Given the description of an element on the screen output the (x, y) to click on. 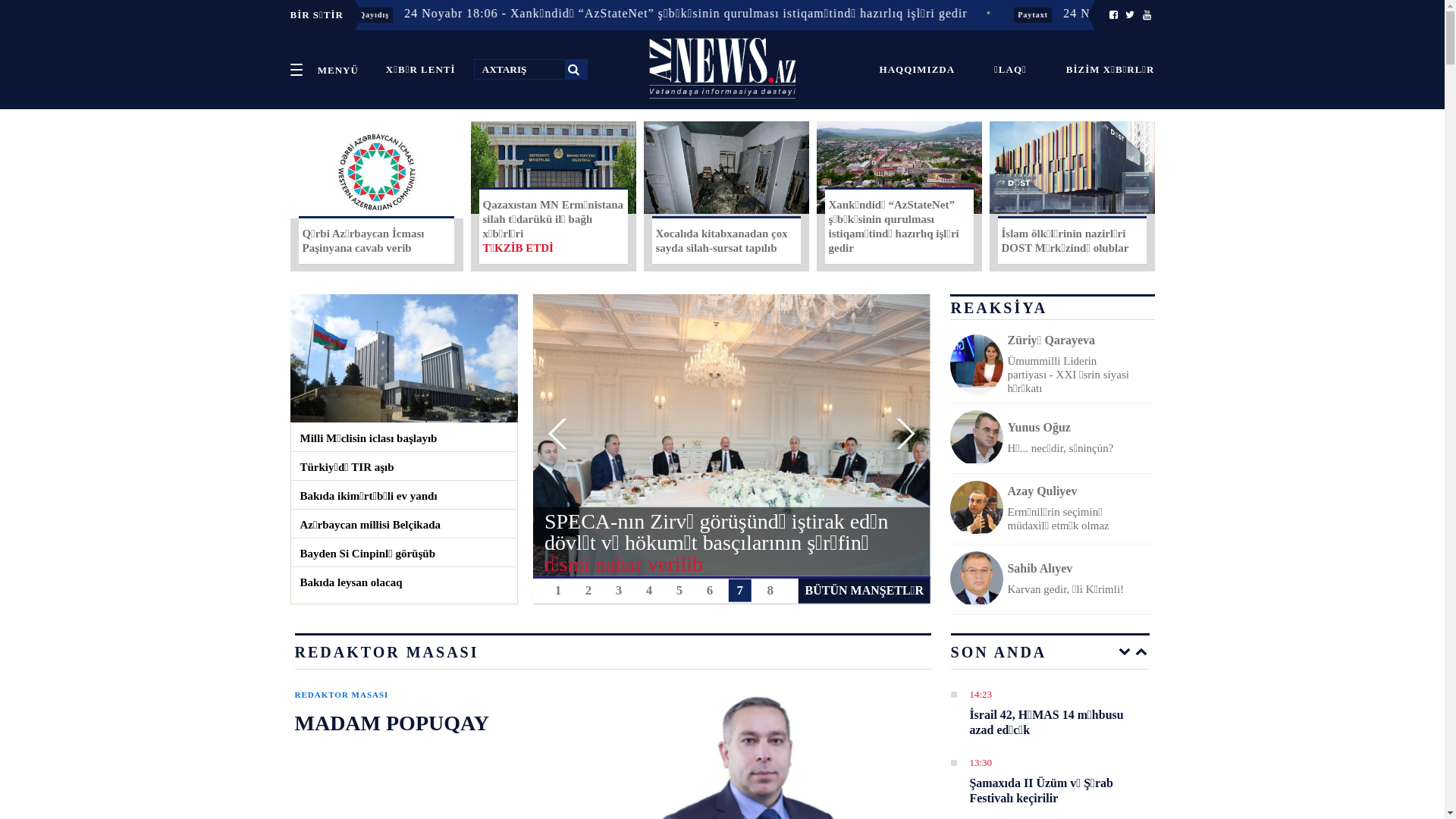
search Element type: hover (530, 69)
REDAKTOR MASASI Element type: text (386, 651)
Azay Quliyev Element type: text (1041, 489)
REDAKTOR MASASI Element type: text (341, 694)
MADAM POPUQAY Element type: text (431, 723)
HAQQIMIZDA Element type: text (911, 69)
